Given the description of an element on the screen output the (x, y) to click on. 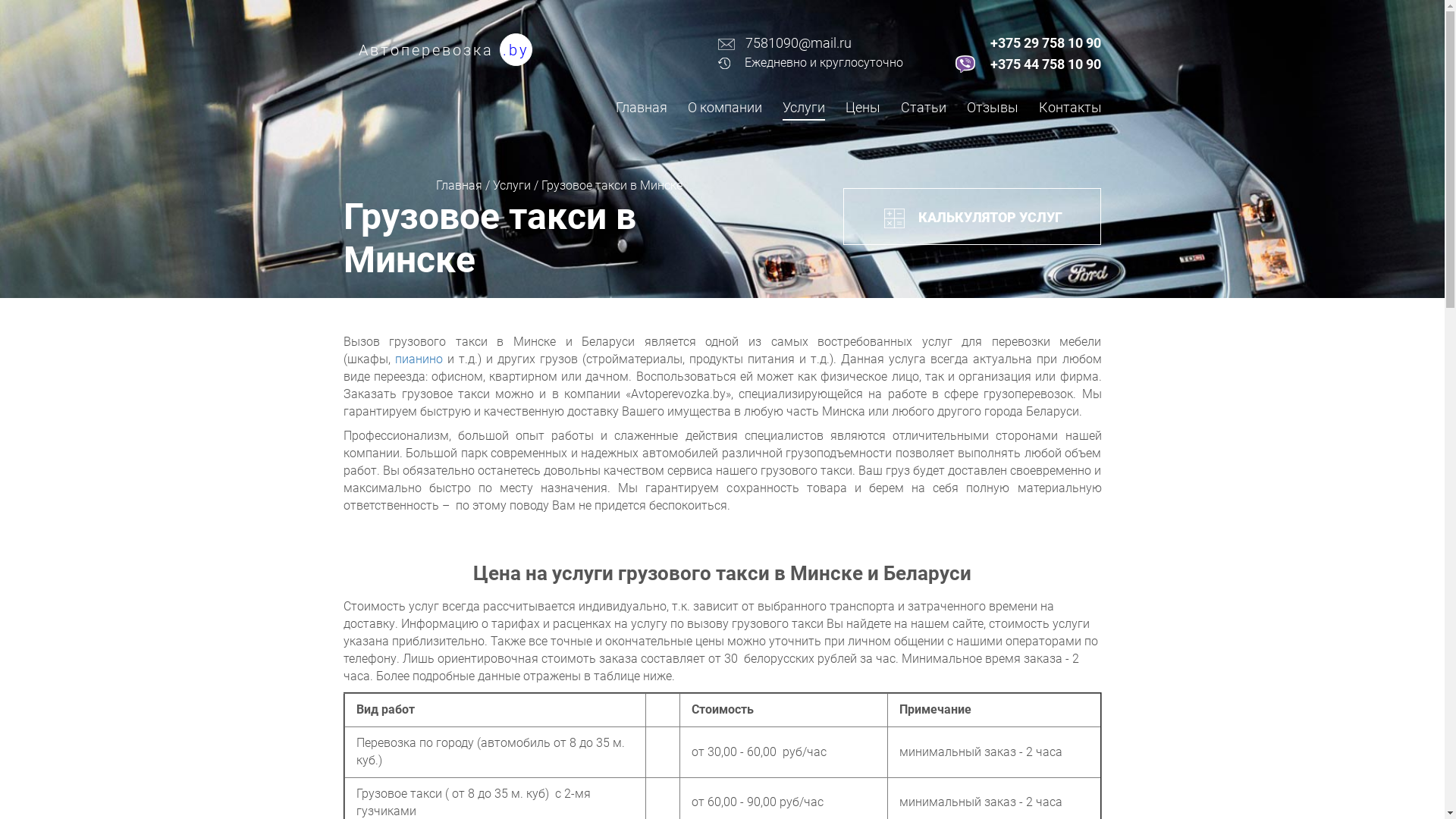
+375 44 758 10 90 Element type: text (1045, 64)
+375 29 758 10 90 Element type: text (1045, 43)
